Given the description of an element on the screen output the (x, y) to click on. 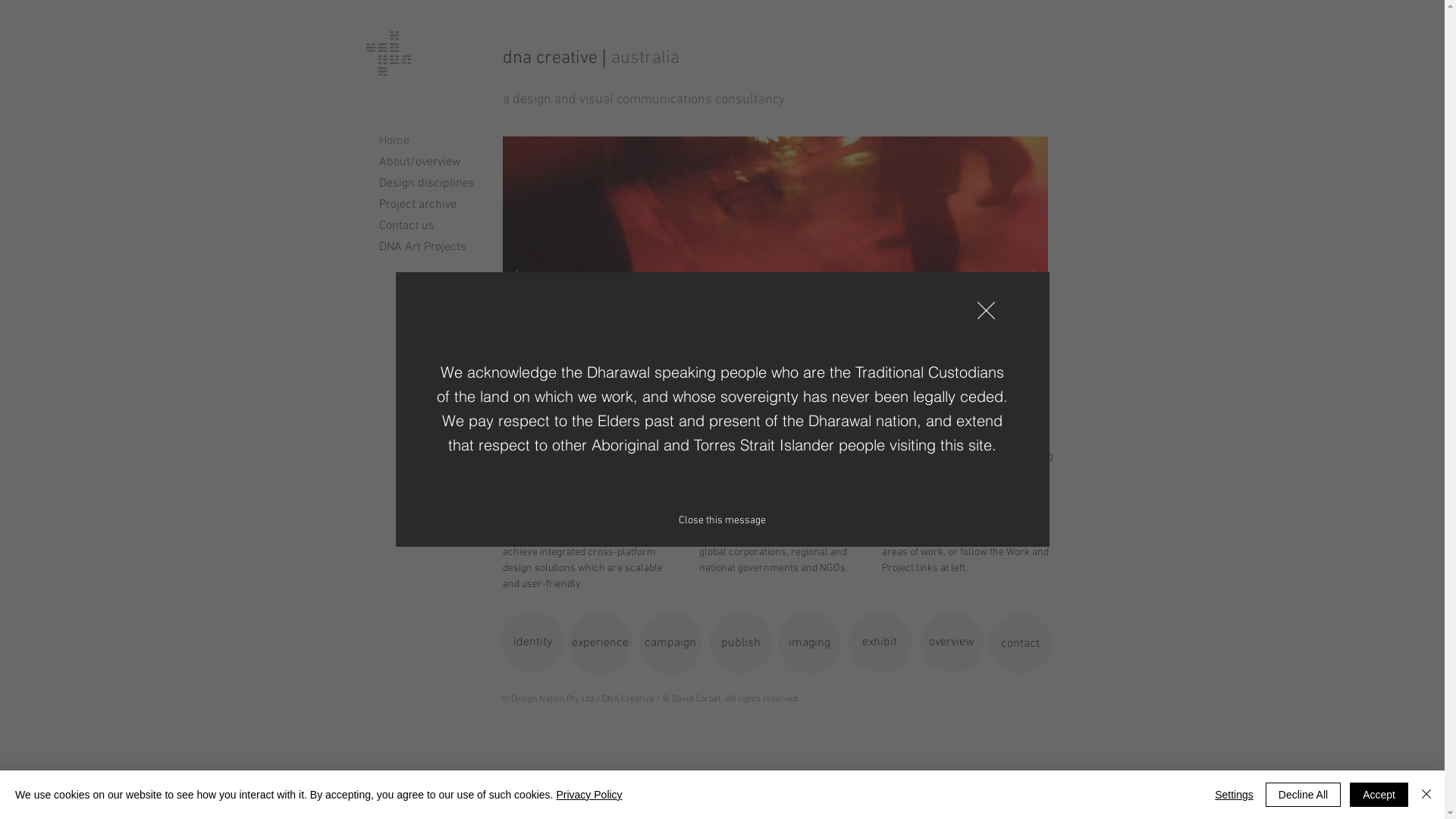
Home Element type: text (430, 140)
Privacy Policy Element type: text (588, 794)
Decline All Element type: text (1302, 794)
About/overview Element type: text (430, 161)
Contact us Element type: text (430, 225)
experience Element type: text (599, 642)
campaign Element type: text (669, 642)
dna creative | Element type: text (556, 58)
imaging Element type: text (809, 642)
Back to site Element type: hover (985, 310)
DNA Art Projects Element type: text (430, 246)
contact Element type: text (1019, 643)
identity Element type: text (531, 641)
overview Element type: text (951, 641)
Accept Element type: text (1378, 794)
australia Element type: text (645, 58)
exhibit Element type: text (878, 641)
Project archive Element type: text (430, 204)
Design disciplines Element type: text (430, 183)
publish Element type: text (740, 642)
